Given the description of an element on the screen output the (x, y) to click on. 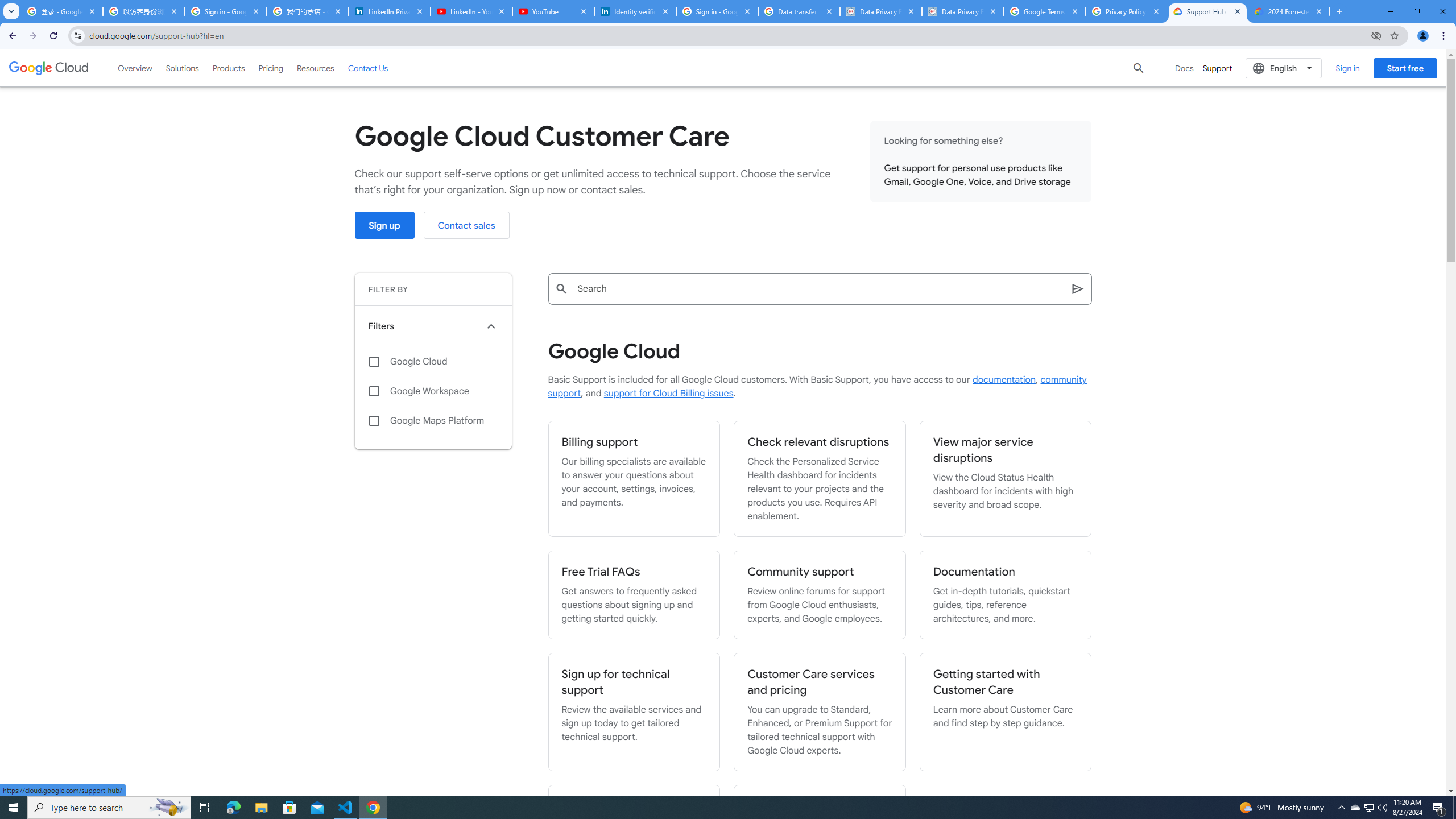
Support Hub | Google Cloud (1207, 11)
Contact sales (466, 225)
Sign in - Google Accounts (716, 11)
Data Privacy Framework (963, 11)
LinkedIn - YouTube (470, 11)
Filters keyboard_arrow_up (432, 326)
